Given the description of an element on the screen output the (x, y) to click on. 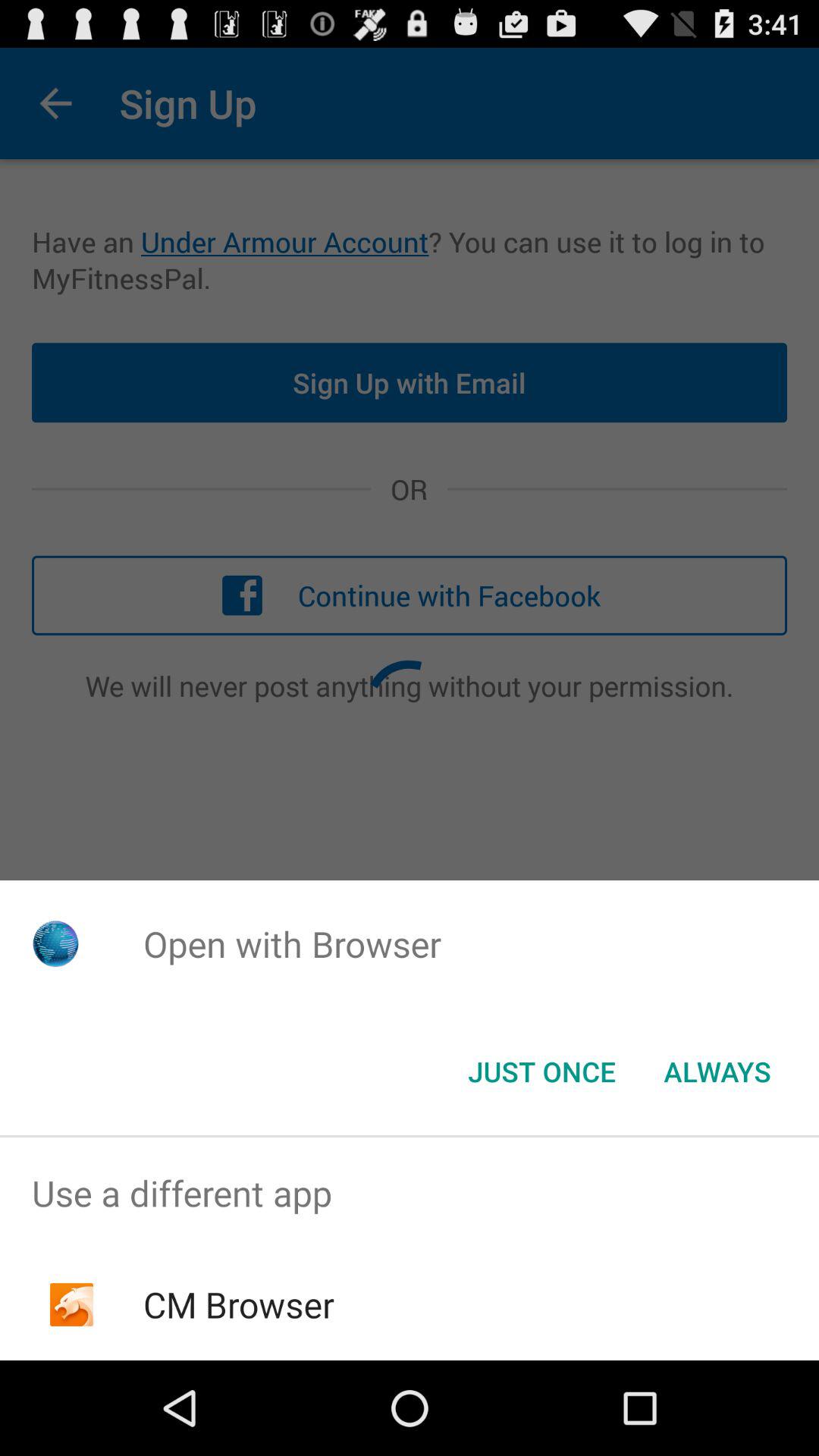
scroll until the always (717, 1071)
